Given the description of an element on the screen output the (x, y) to click on. 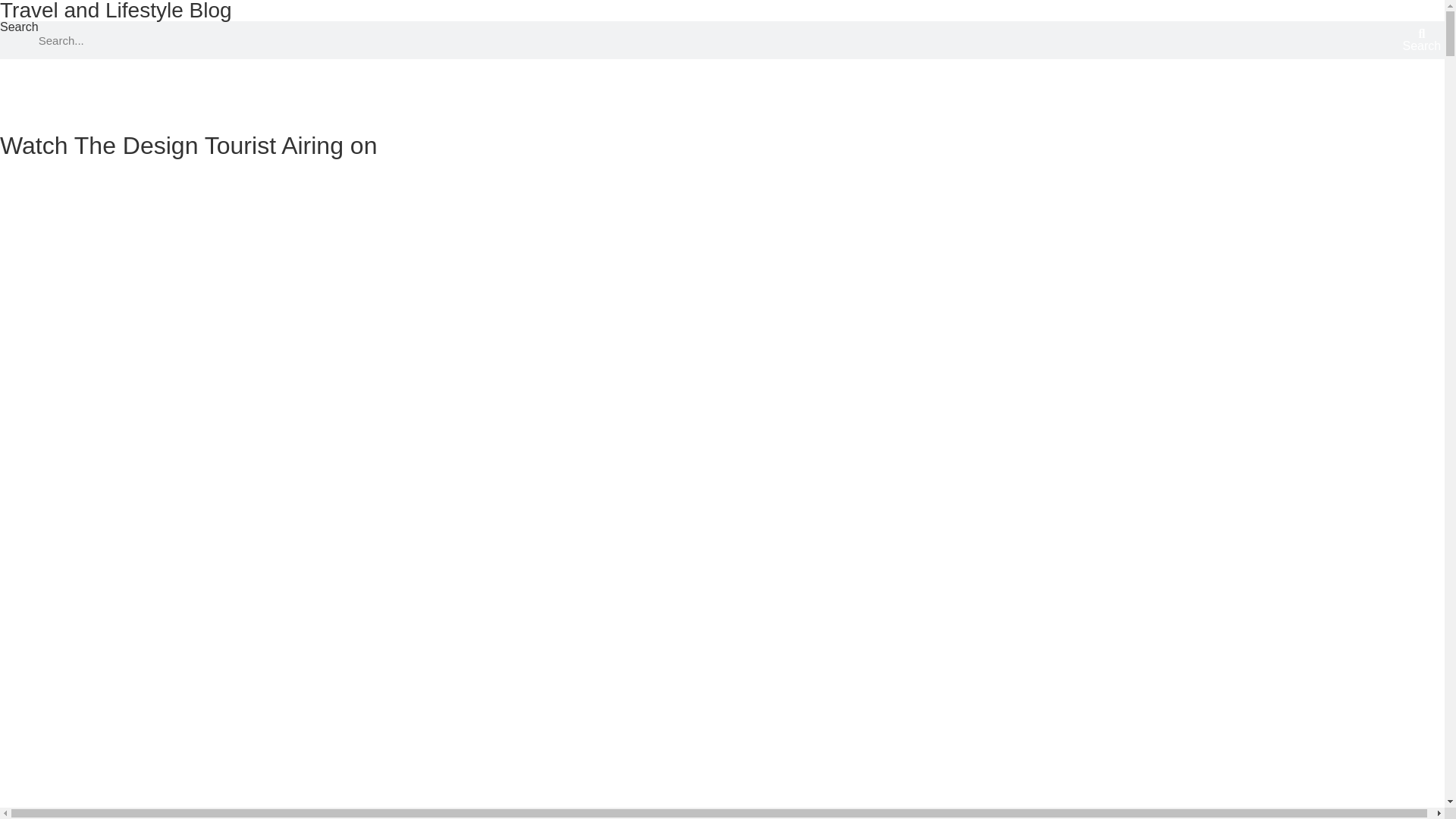
Search (1421, 39)
